Given the description of an element on the screen output the (x, y) to click on. 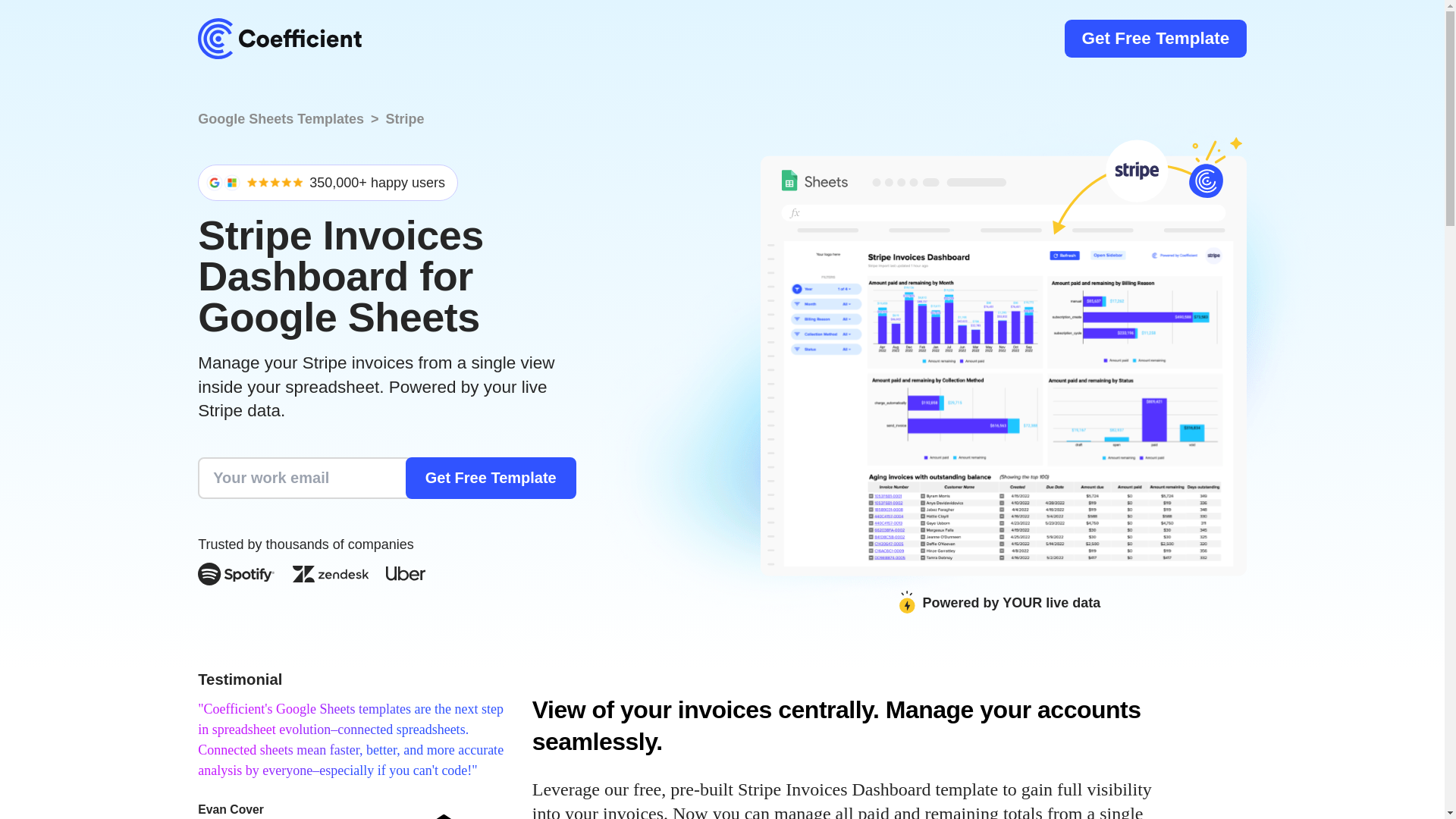
Get Free Template (491, 477)
Get Free Template (491, 477)
Google Sheets Templates (281, 118)
Get Free Template (1155, 38)
Home (279, 38)
Stripe (404, 118)
